Given the description of an element on the screen output the (x, y) to click on. 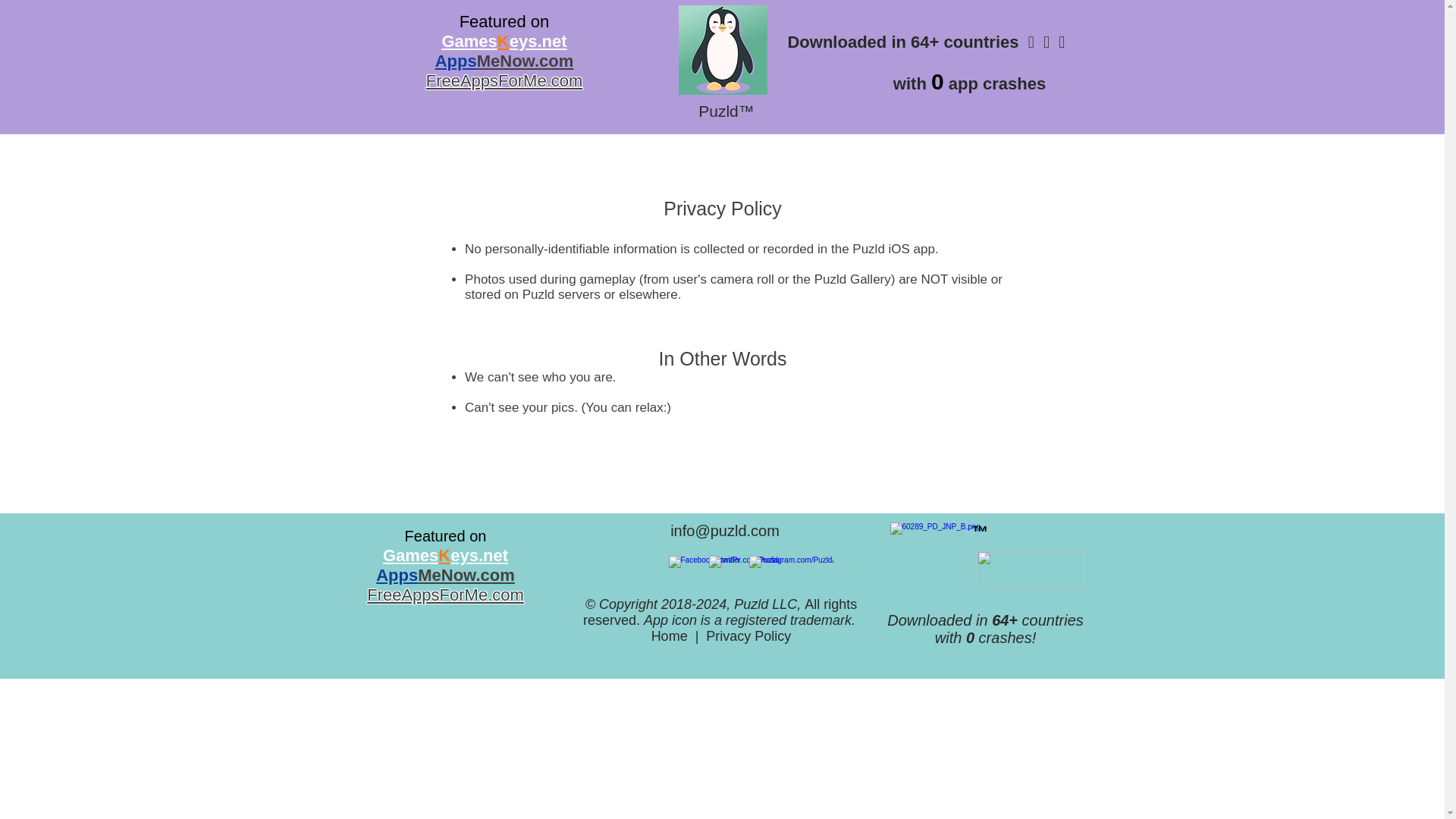
Downloaded (839, 41)
Home (668, 635)
AppsMeNow.com (504, 60)
crashes! (1004, 637)
with (912, 83)
Privacy Policy (748, 635)
FreeAppsForMe.com (445, 594)
app crashes (997, 83)
GamesKeys.net (445, 555)
All rights reserved. App icon is a registered trademark.  (721, 612)
